Given the description of an element on the screen output the (x, y) to click on. 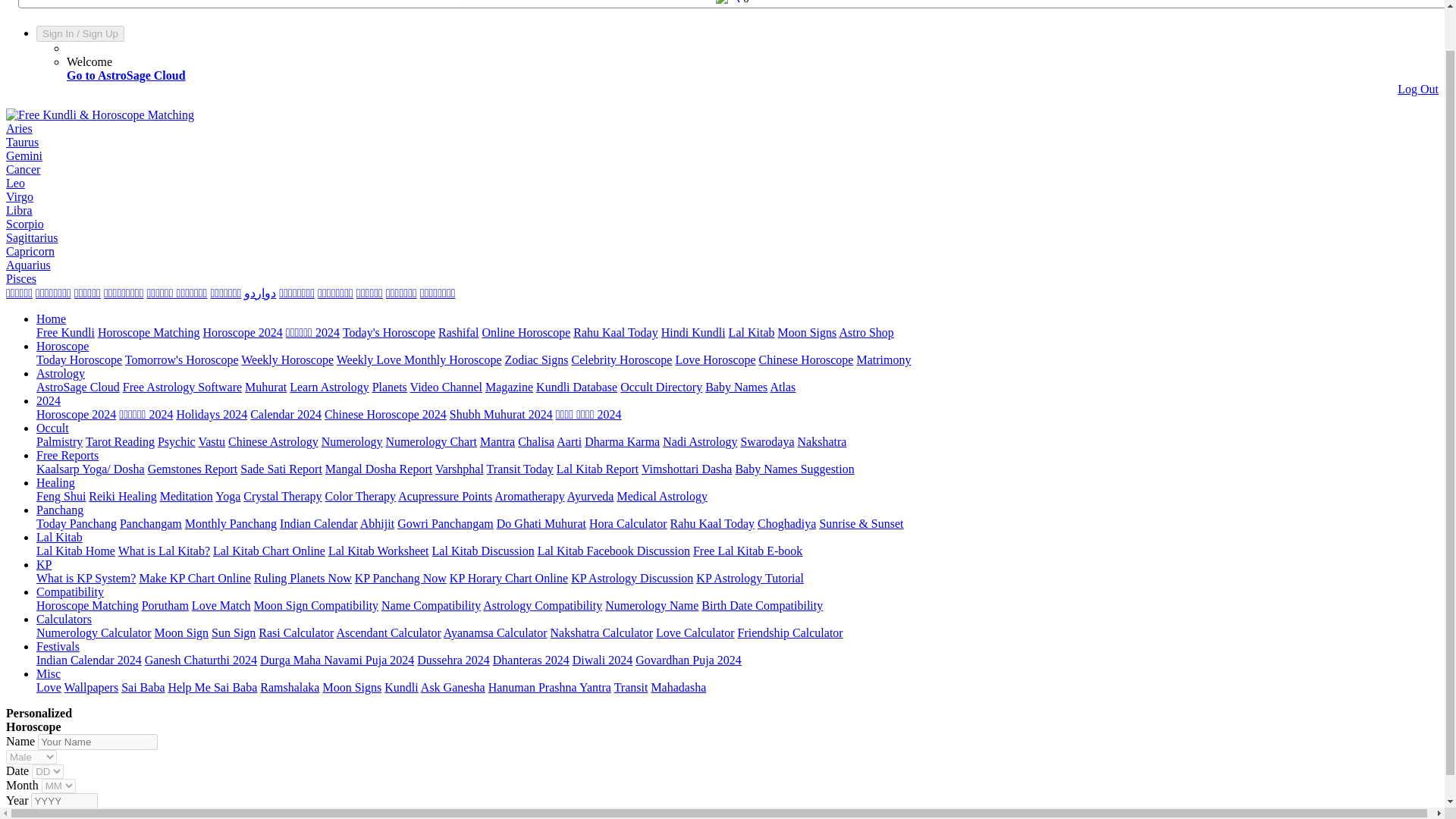
Telugu (52, 292)
Assamese (400, 292)
Sign Up (99, 33)
Punjabi (437, 292)
Aquarius (27, 264)
Capricorn (30, 250)
Go to AstroSage Cloud (126, 74)
Log Out (1417, 88)
Sagittarius (31, 237)
Kannada (87, 292)
